Given the description of an element on the screen output the (x, y) to click on. 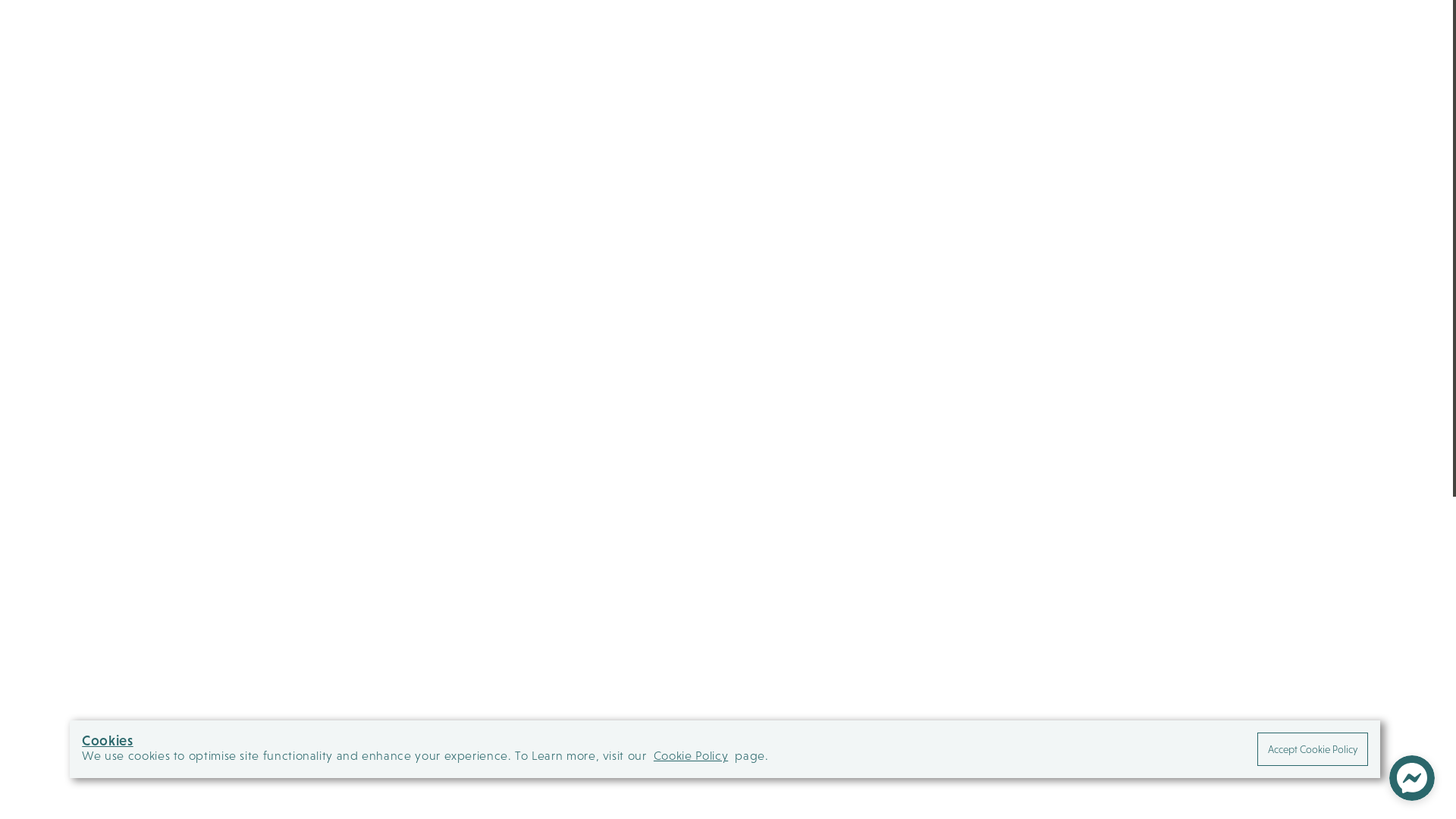
Accept Cookie Policy Element type: text (1312, 748)
Cookie Policy Element type: text (690, 755)
